Given the description of an element on the screen output the (x, y) to click on. 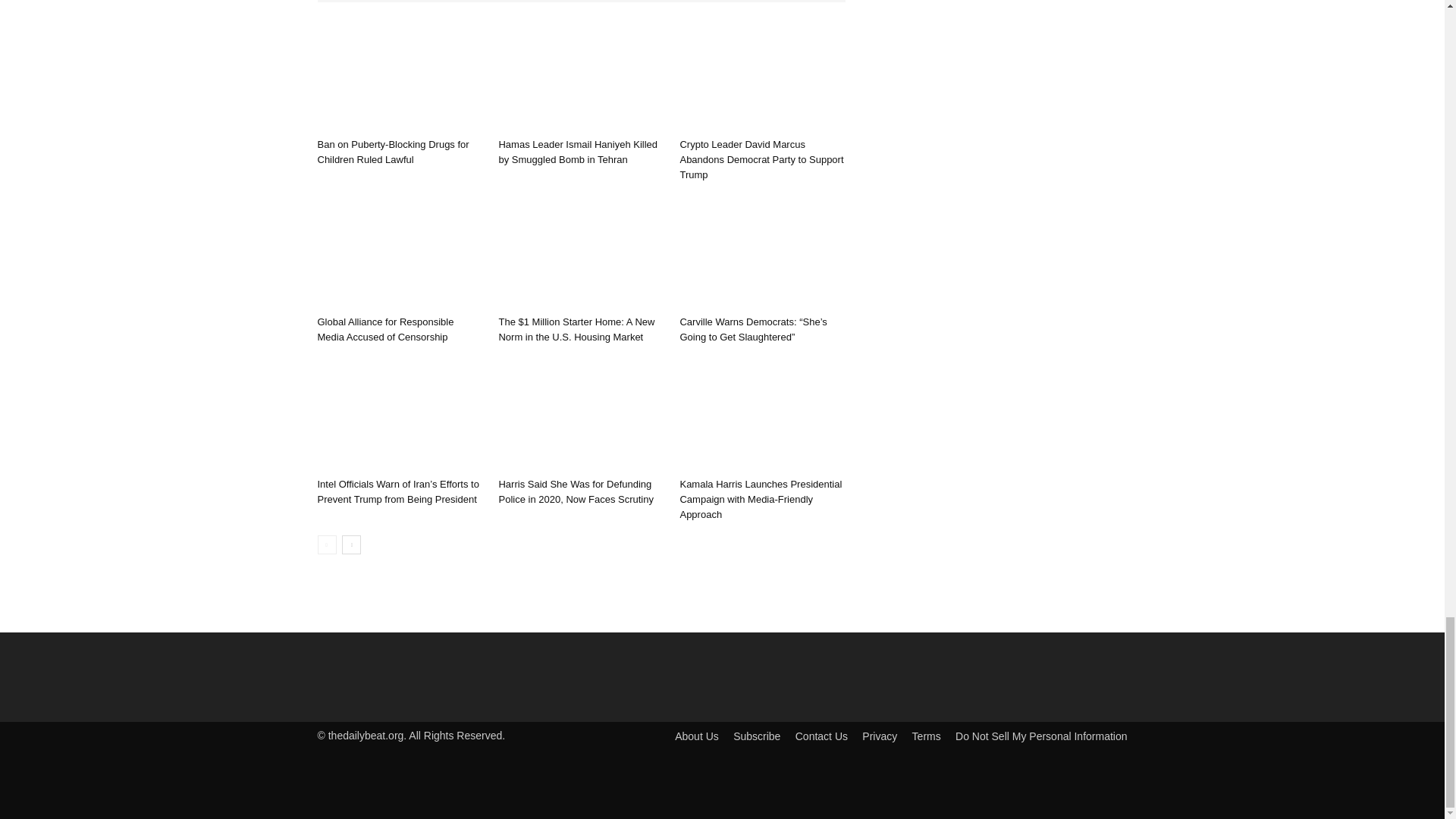
Ban on Puberty-Blocking Drugs for Children Ruled Lawful (392, 151)
Global Alliance for Responsible Media Accused of Censorship (384, 329)
Ban on Puberty-Blocking Drugs for Children Ruled Lawful (399, 74)
Ban on Puberty-Blocking Drugs for Children Ruled Lawful (392, 151)
Global Alliance for Responsible Media Accused of Censorship (399, 252)
